Given the description of an element on the screen output the (x, y) to click on. 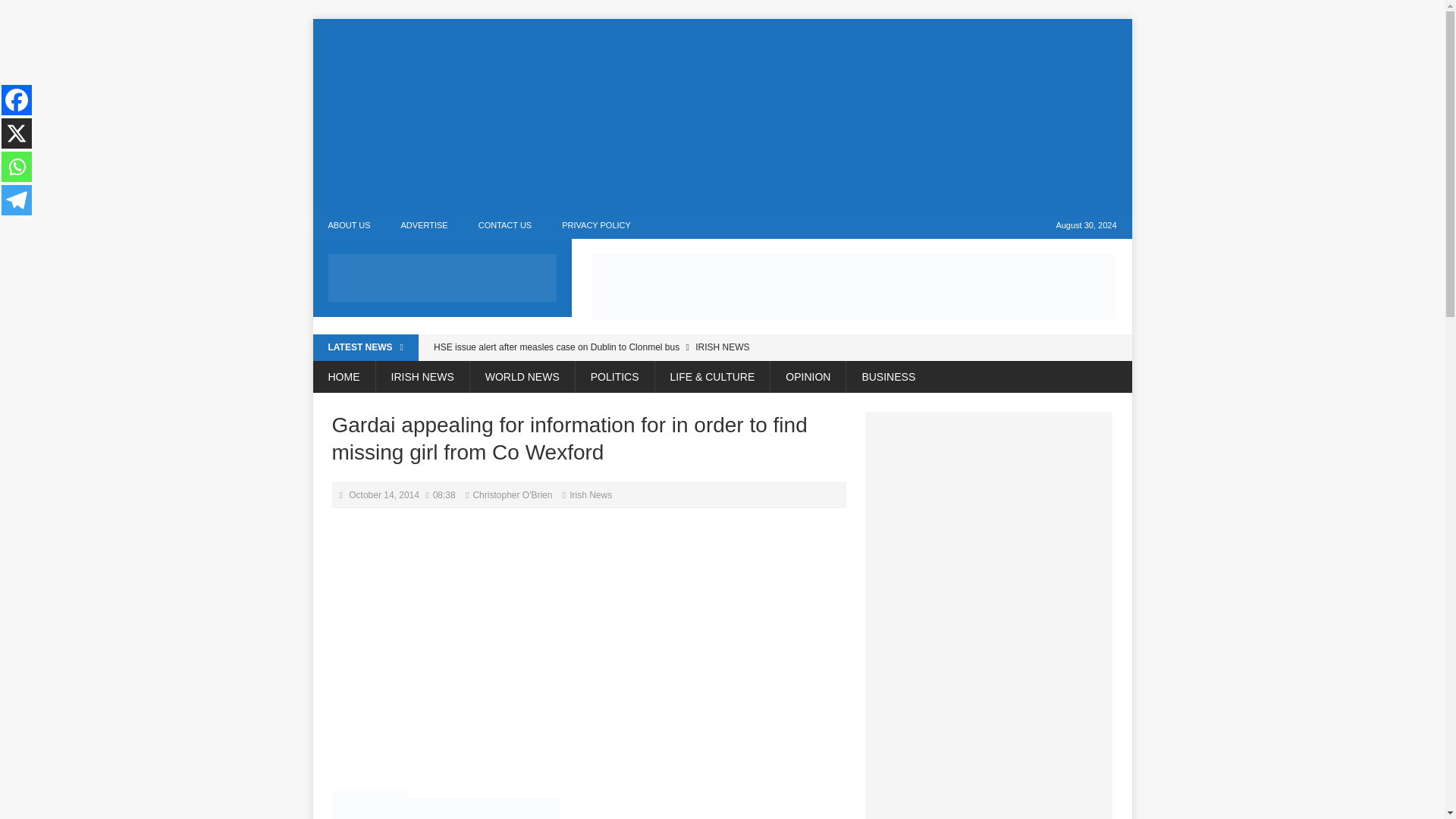
PRIVACY POLICY (596, 225)
X (16, 132)
ADVERTISE (424, 225)
Whatsapp (16, 166)
Telegram (16, 200)
ABOUT US (349, 225)
Irish News (590, 494)
HSE issue alert after measles case on Dublin to Clonmel bus (634, 347)
CONTACT US (505, 225)
